Given the description of an element on the screen output the (x, y) to click on. 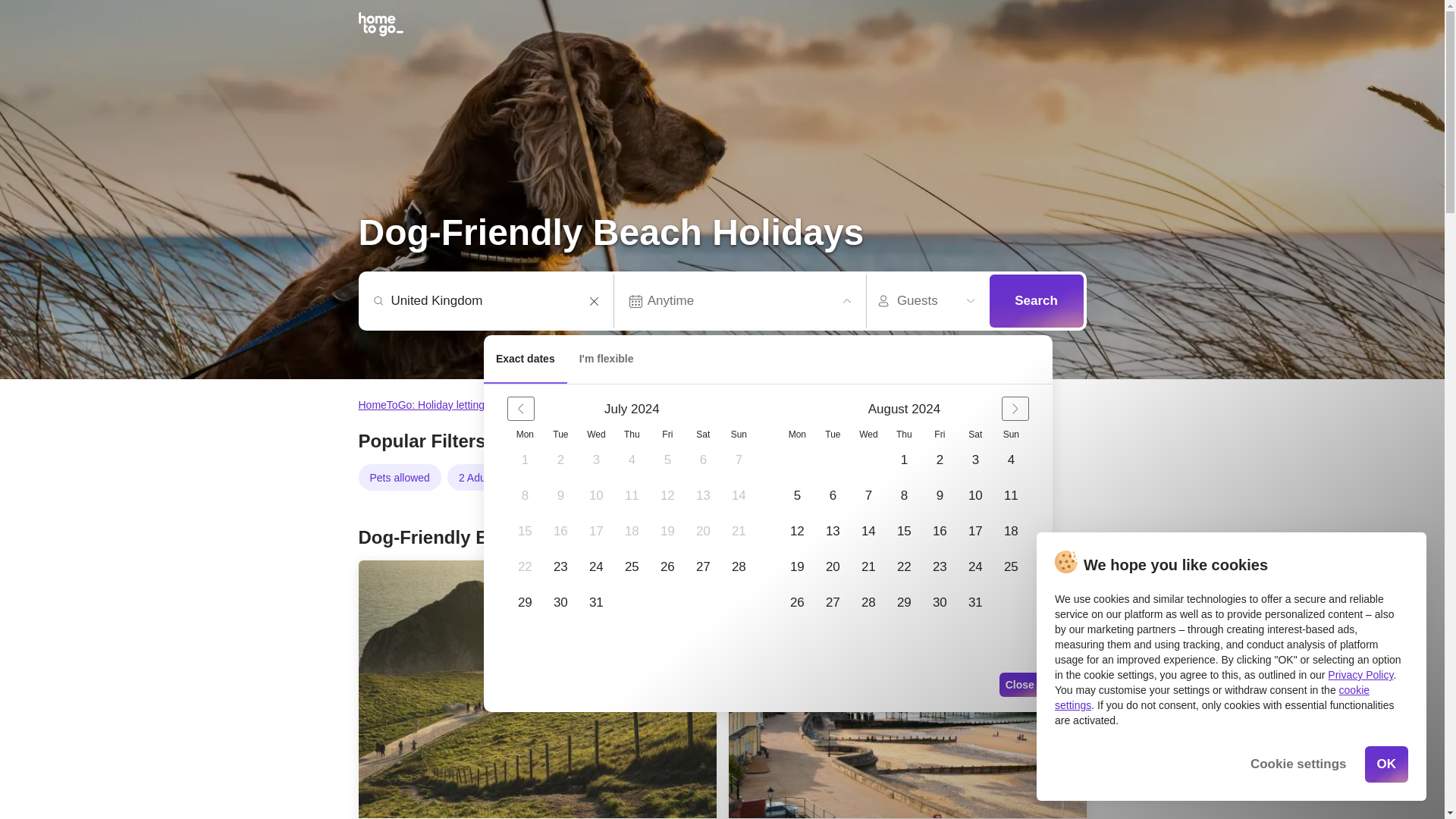
Sun (1011, 434)
United Kingdom (492, 300)
Sat (702, 434)
Sat (974, 434)
Wed (868, 434)
Thu (904, 434)
United Kingdom (492, 300)
cookie settings (1212, 697)
Inspiration (580, 404)
Tue (832, 434)
Sun (738, 434)
Privacy Policy (1360, 674)
Tue (560, 434)
OK (1387, 764)
